Given the description of an element on the screen output the (x, y) to click on. 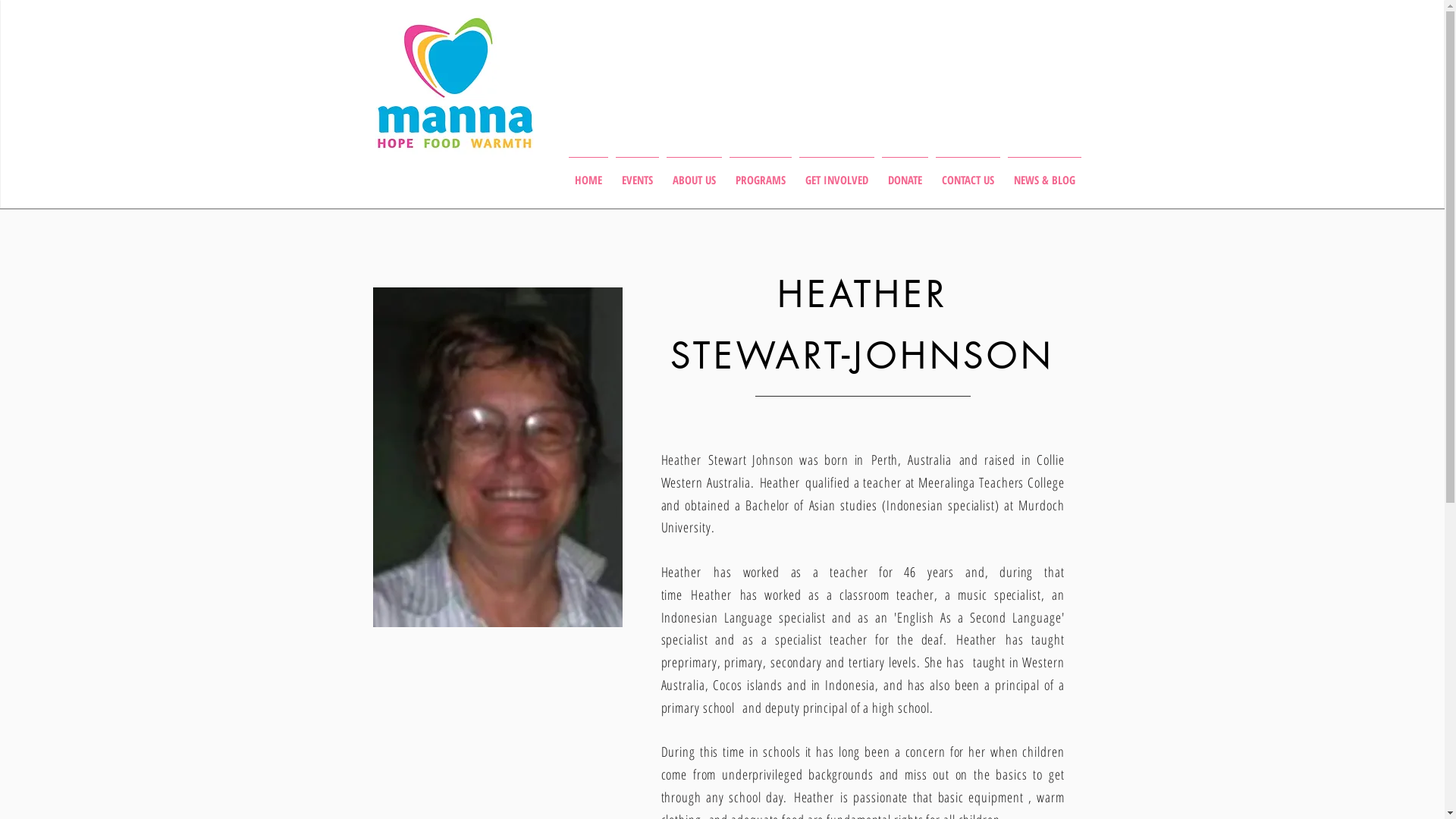
NEWS & BLOG Element type: text (1044, 172)
GET INVOLVED Element type: text (835, 172)
HOME Element type: text (587, 172)
CONTACT US Element type: text (967, 172)
DONATE Element type: text (904, 172)
EVENTS Element type: text (636, 172)
PROGRAMS Element type: text (759, 172)
ABOUT US Element type: text (693, 172)
